Given the description of an element on the screen output the (x, y) to click on. 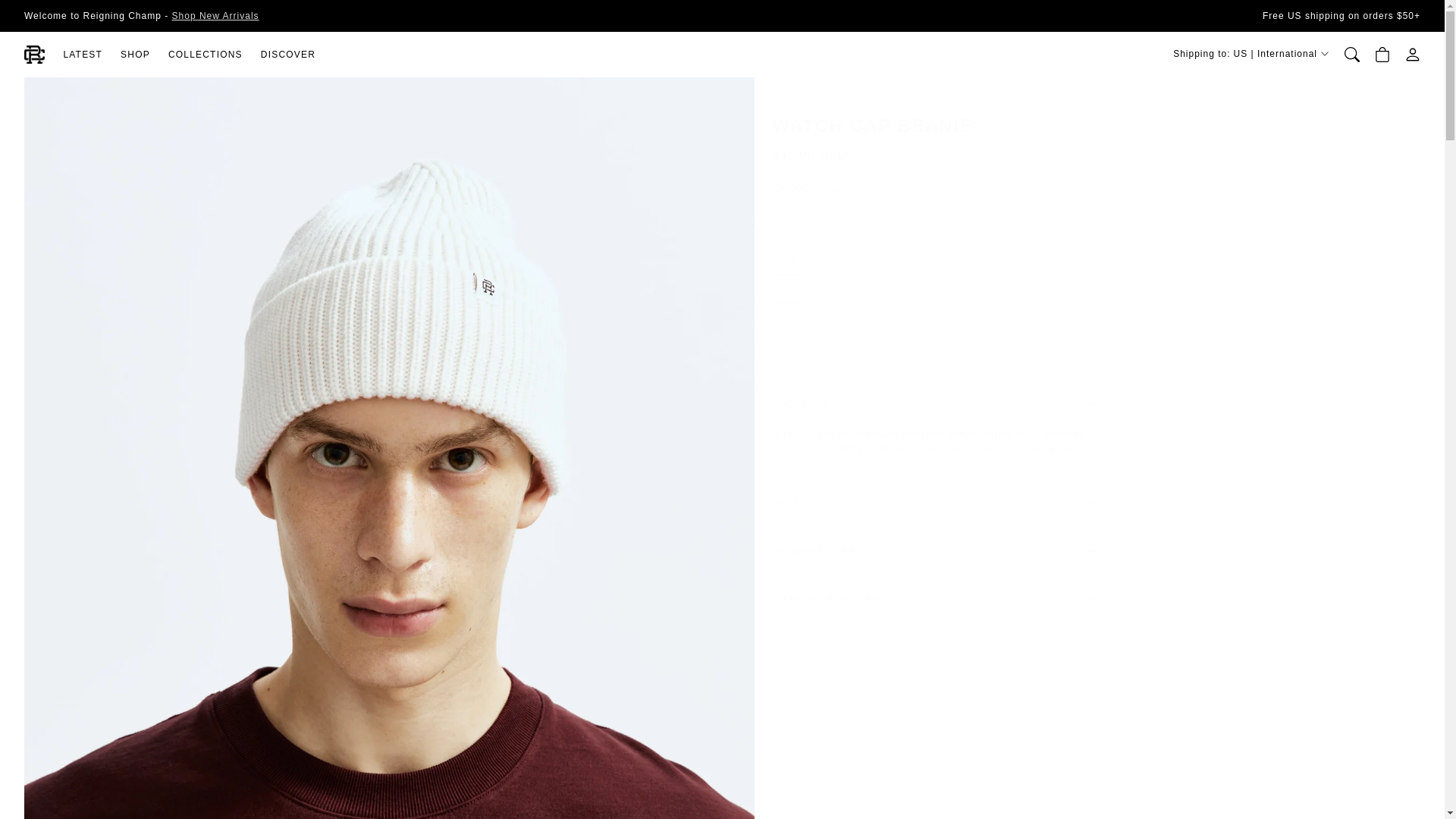
Shop New Arrivals (215, 15)
LATEST (81, 54)
Men's Latest (215, 15)
